Given the description of an element on the screen output the (x, y) to click on. 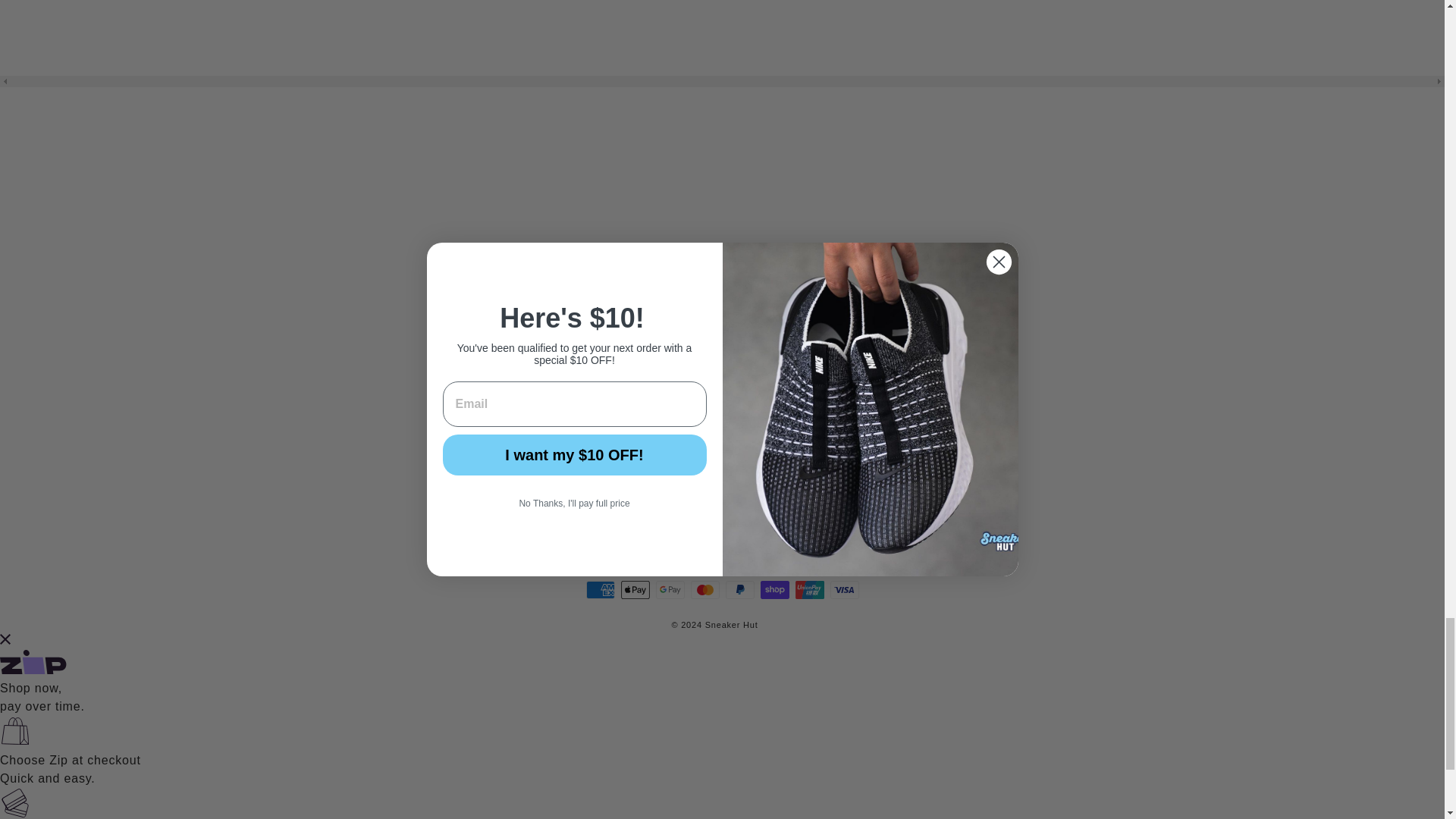
Sneaker Hut  on Instagram (698, 505)
American Express (599, 589)
Sneaker Hut  on Facebook (747, 505)
Shop Pay (774, 589)
Mastercard (704, 589)
PayPal (739, 589)
Visa (844, 589)
Union Pay (809, 589)
Apple Pay (634, 589)
Google Pay (669, 589)
